Given the description of an element on the screen output the (x, y) to click on. 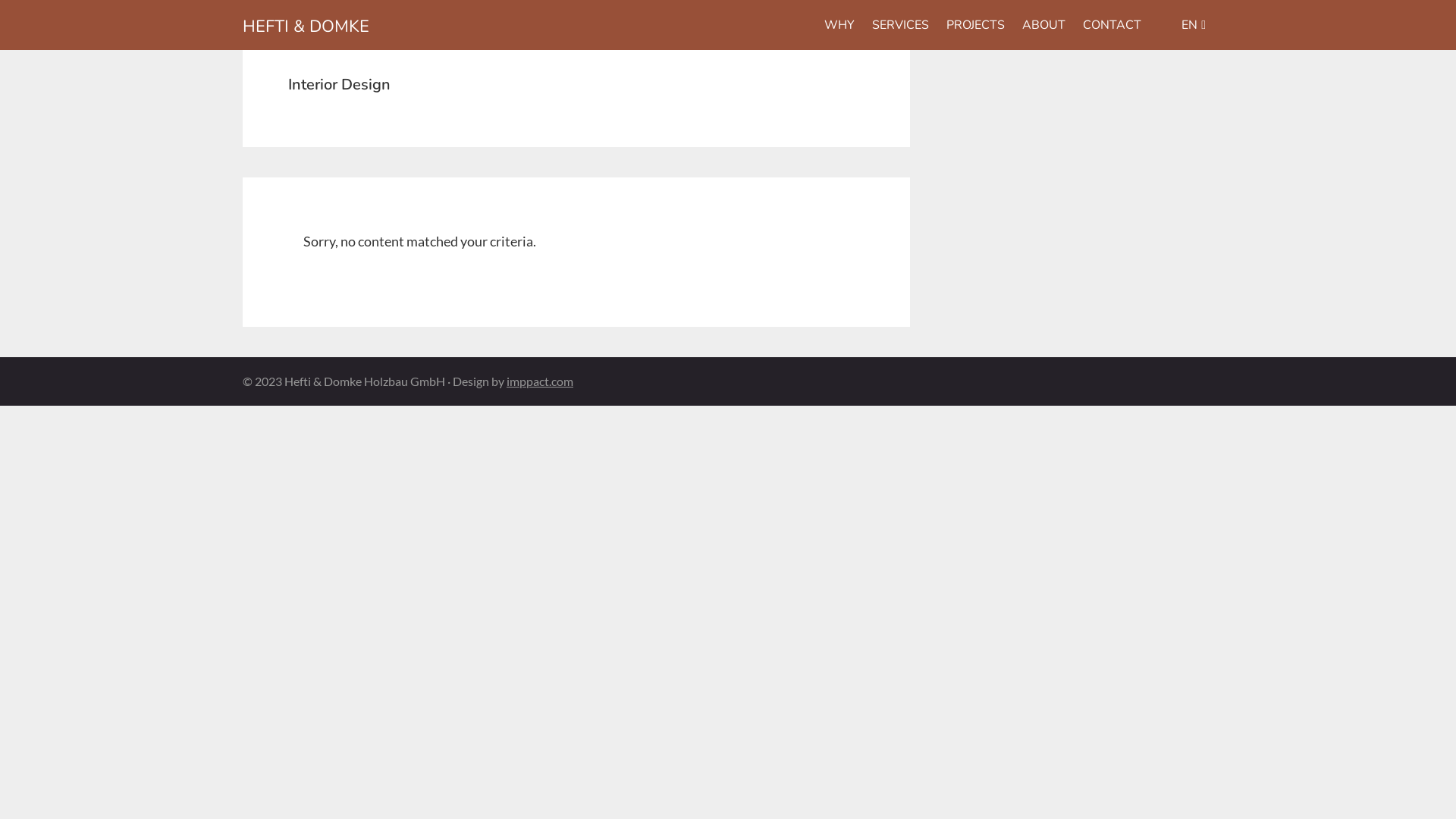
EN Element type: text (1182, 25)
HEFTI & DOMKE Element type: text (305, 26)
imppact.com Element type: text (539, 380)
Skip to main content Element type: text (0, 0)
ABOUT Element type: text (1043, 25)
PROJECTS Element type: text (975, 25)
WHY Element type: text (839, 25)
SERVICES Element type: text (900, 25)
CONTACT Element type: text (1111, 25)
